Given the description of an element on the screen output the (x, y) to click on. 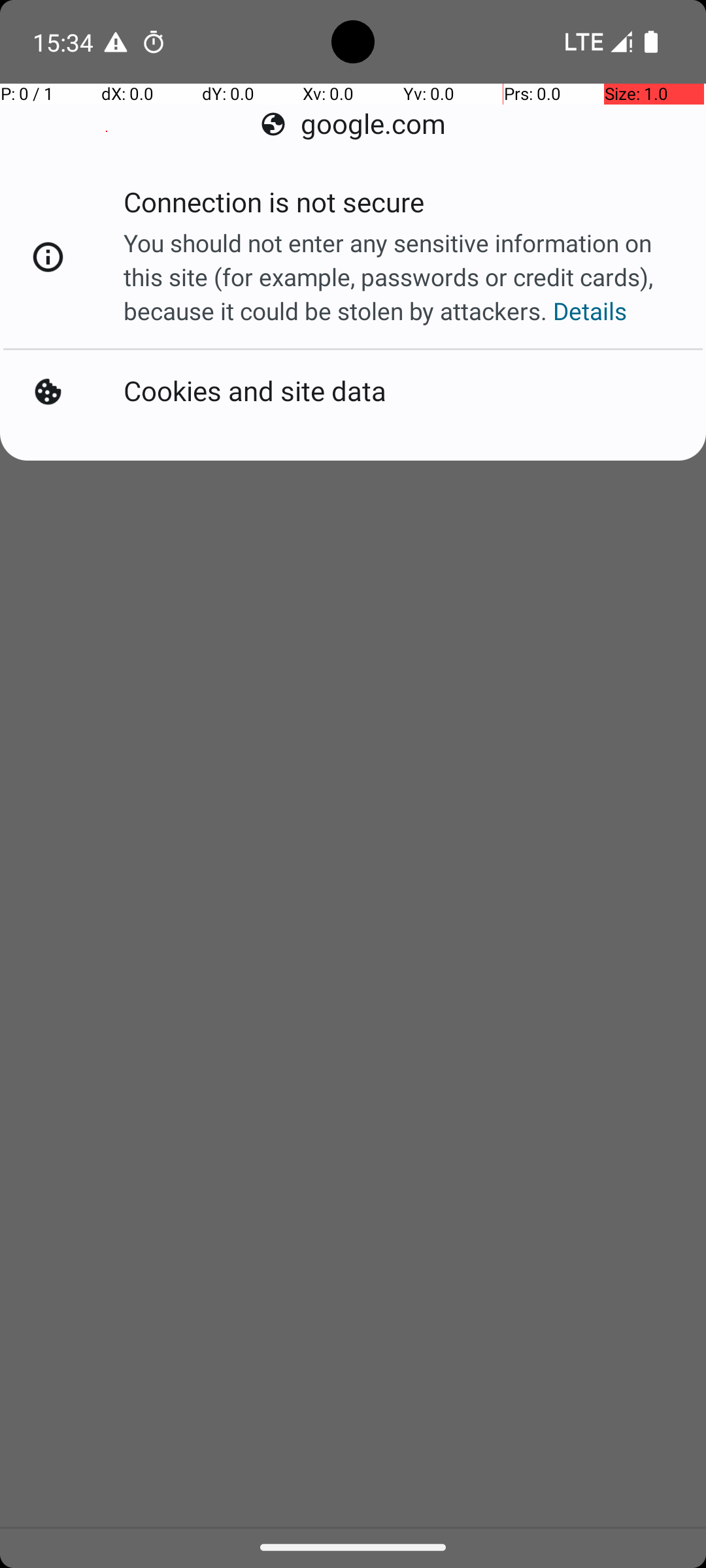
Connection is not secure Element type: android.widget.TextView (273, 206)
You should not enter any sensitive information on this site (for example, passwords or credit cards), because it could be stolen by attackers. Details Element type: android.widget.TextView (400, 276)
Cookies and site data Element type: android.widget.TextView (254, 391)
